Given the description of an element on the screen output the (x, y) to click on. 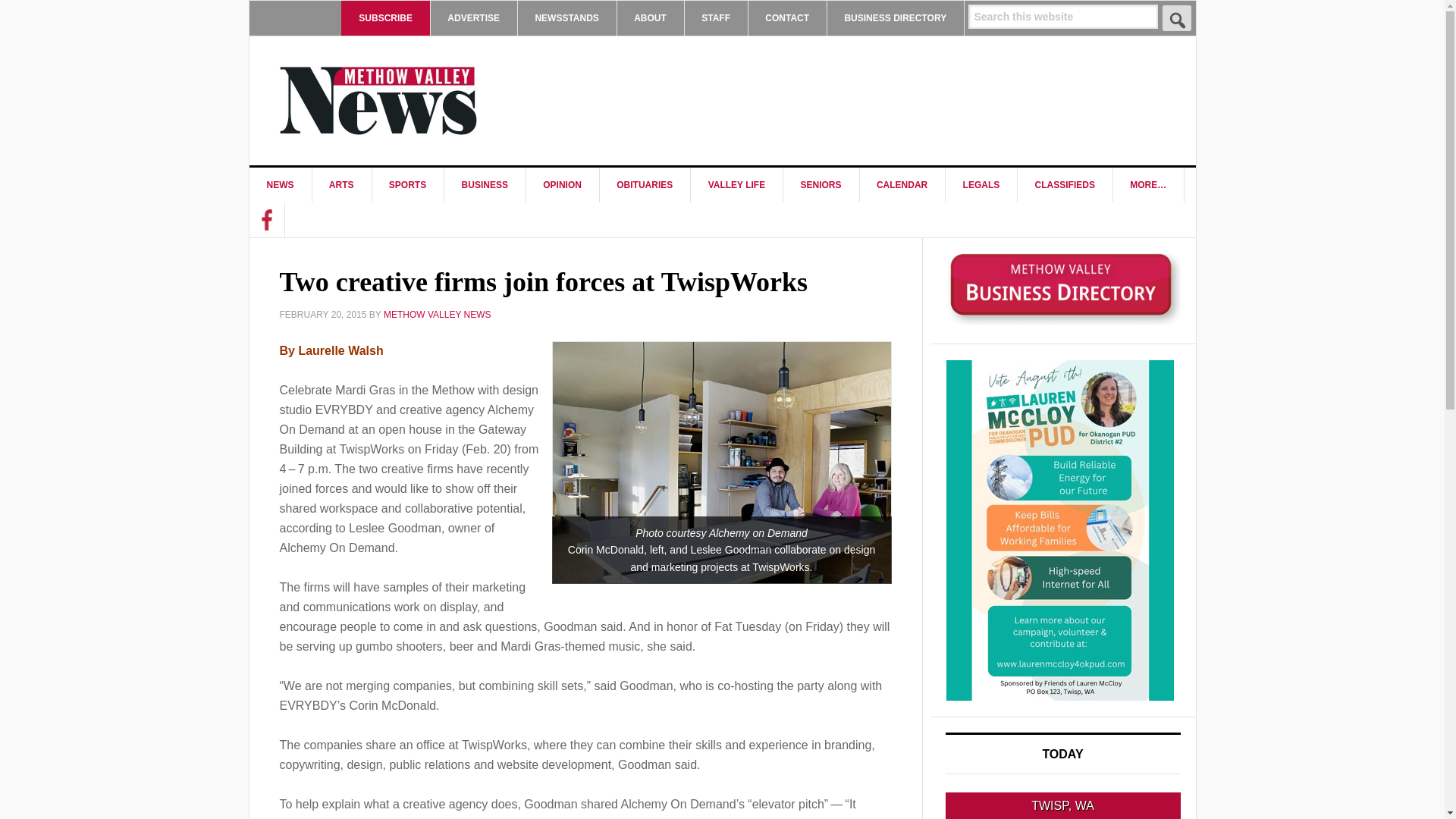
CONTACT (787, 18)
LEGALS (980, 184)
SENIORS (821, 184)
BUSINESS DIRECTORY (895, 18)
NEWS (279, 184)
OBITUARIES (644, 184)
NEWSSTANDS (565, 18)
SUBSCRIBE (385, 18)
VALLEY LIFE (737, 184)
STAFF (716, 18)
BUSINESS (484, 184)
OPINION (562, 184)
ADVERTISE (473, 18)
SPORTS (407, 184)
